Given the description of an element on the screen output the (x, y) to click on. 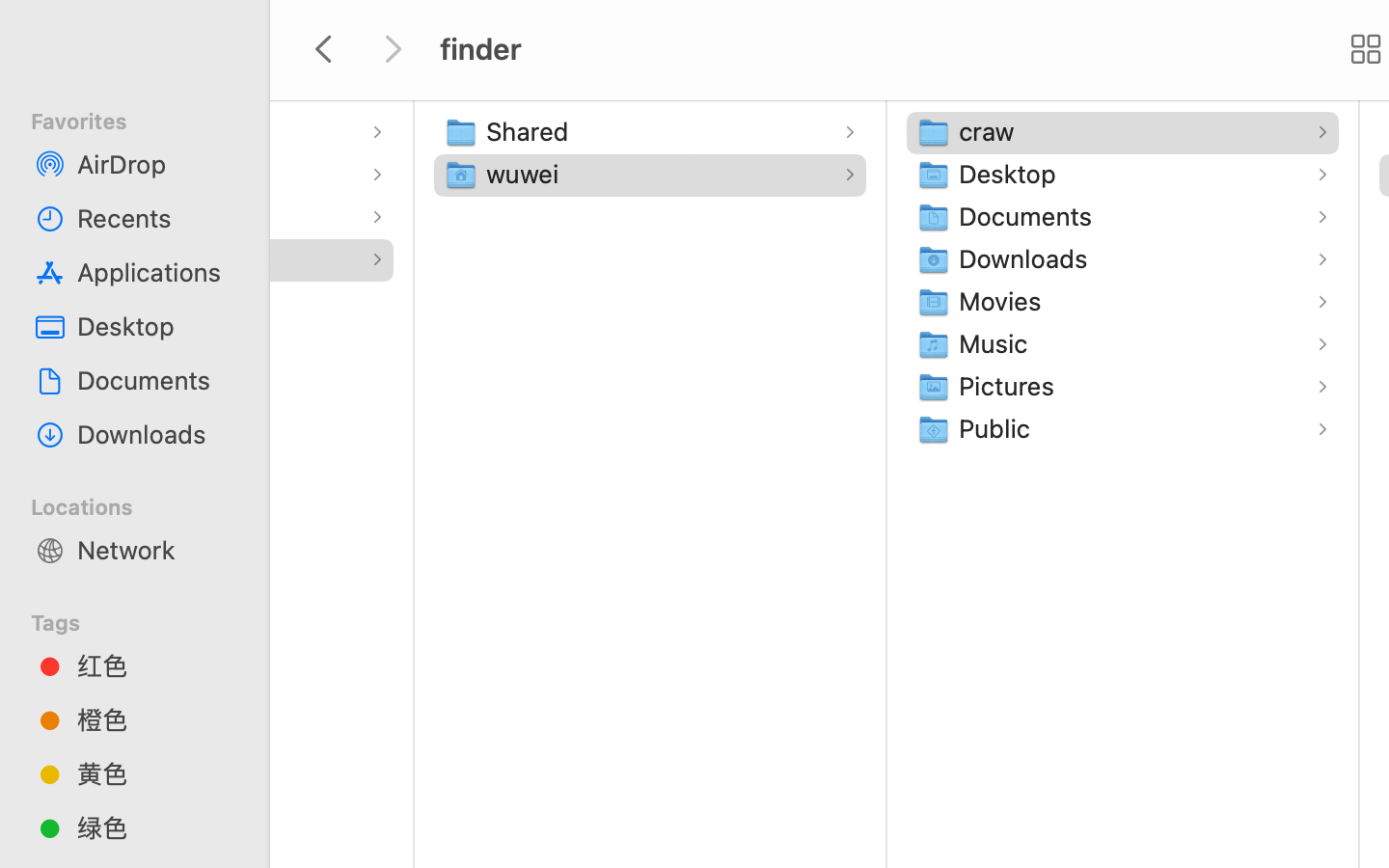
Library Element type: AXTextField (58, 173)
Movies Element type: AXTextField (1003, 300)
Downloads Element type: AXStaticText (155, 433)
绿色 Element type: AXStaticText (155, 827)
Public Element type: AXTextField (998, 427)
